Given the description of an element on the screen output the (x, y) to click on. 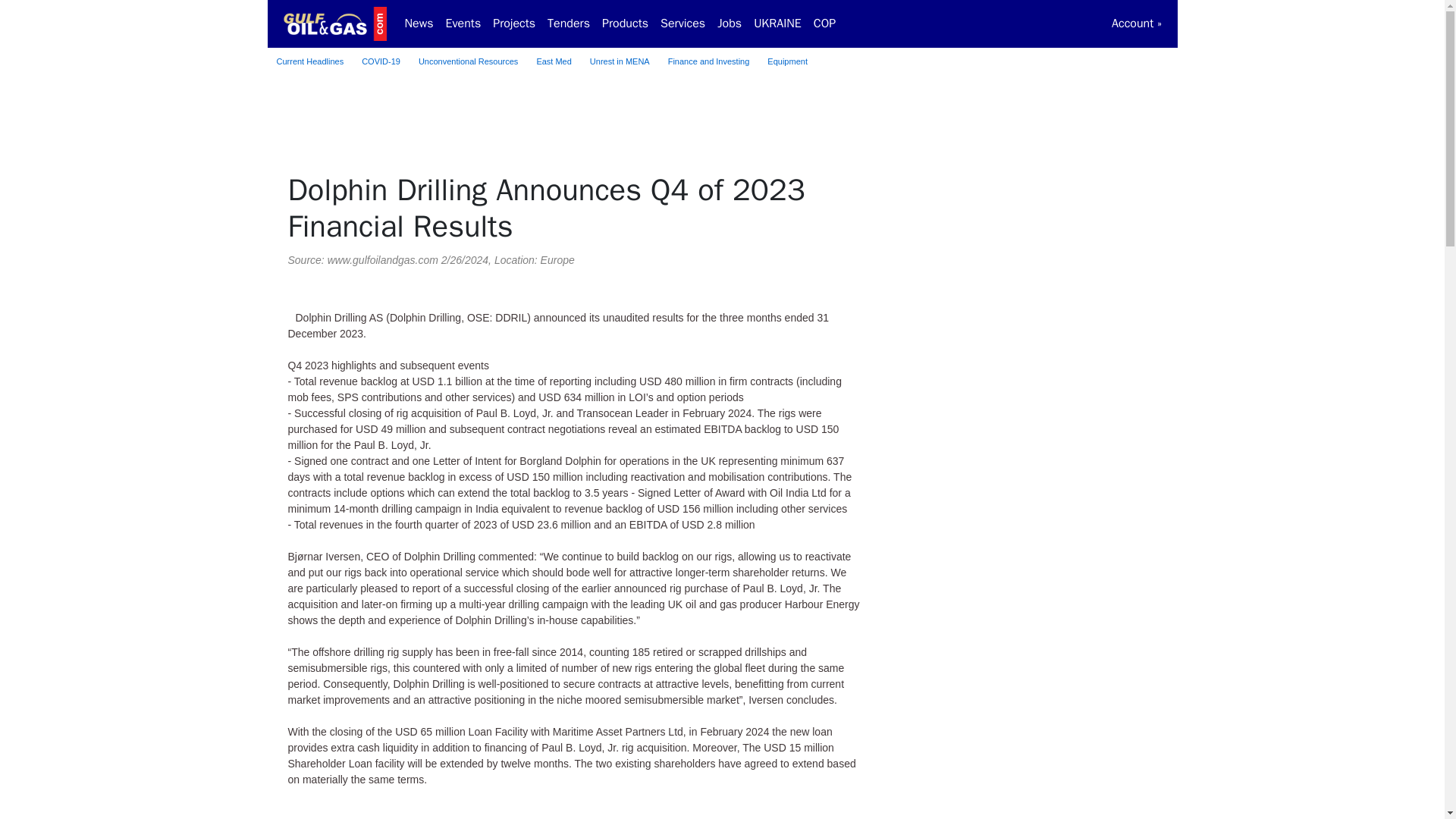
Jobs (729, 23)
East Mediterranean (553, 61)
Unconventional Resources (468, 61)
Projects (513, 23)
Products (624, 23)
COVID-19 (380, 61)
COP (824, 23)
News (418, 23)
Tenders (568, 23)
East Med (553, 61)
